Given the description of an element on the screen output the (x, y) to click on. 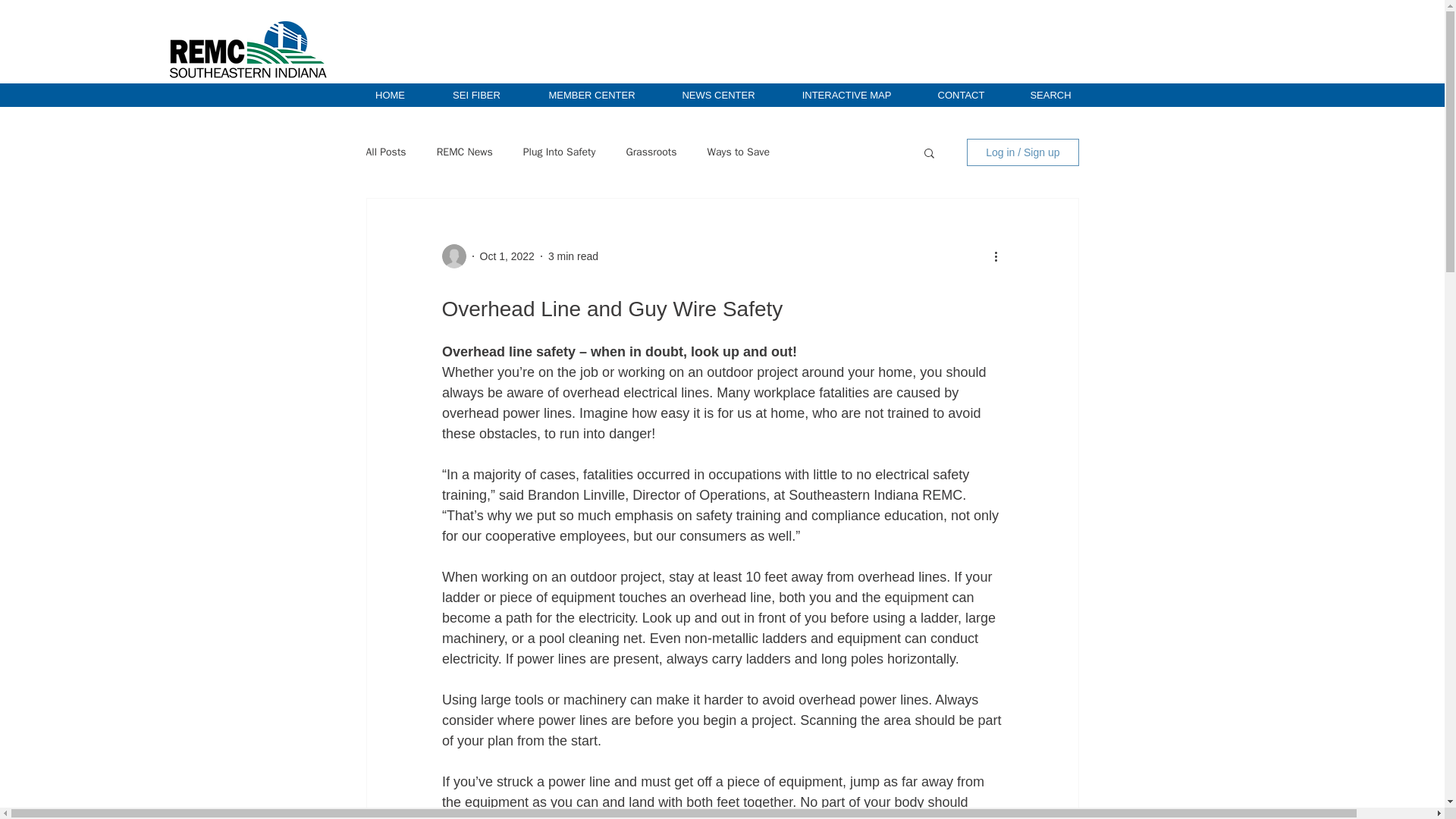
Ways to Save (738, 151)
INTERACTIVE MAP (846, 95)
All Posts (385, 151)
CONTACT (960, 95)
SEI FIBER (476, 95)
Plug Into Safety (558, 151)
MEMBER CENTER (591, 95)
NEWS CENTER (717, 95)
Oct 1, 2022 (506, 256)
SEARCH (1050, 95)
